Given the description of an element on the screen output the (x, y) to click on. 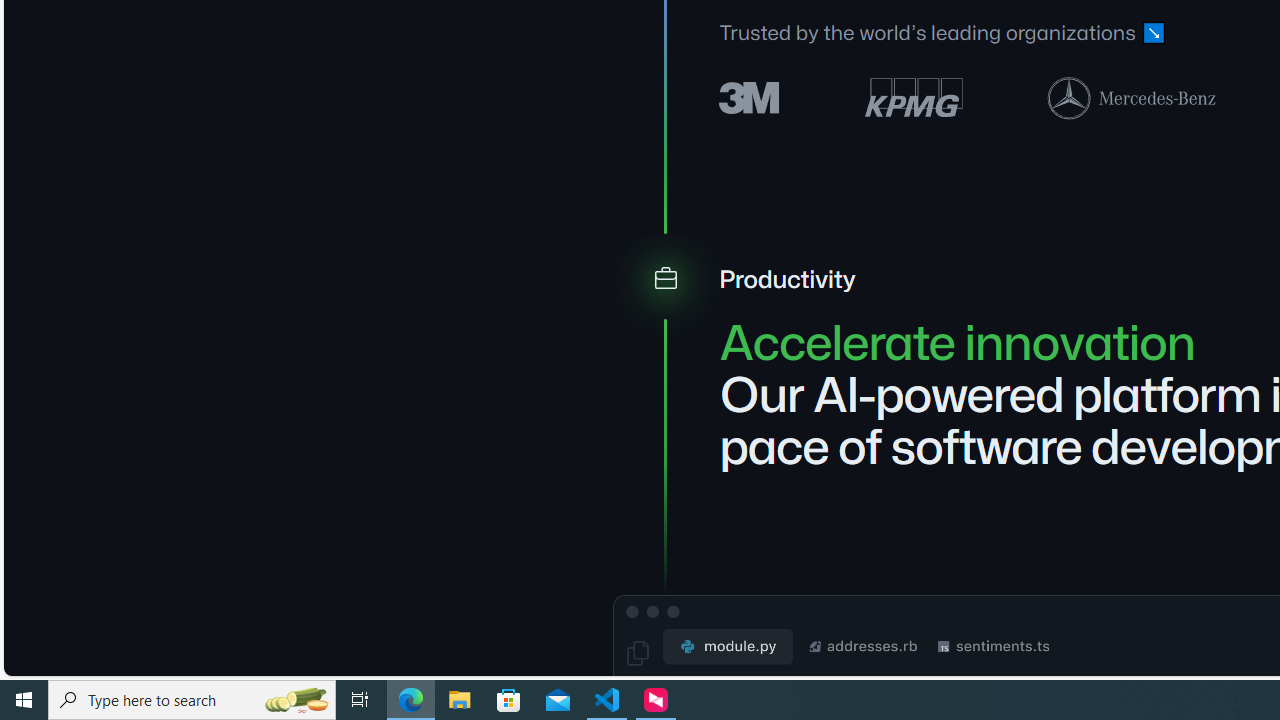
Mercedes-Benz logo (1132, 97)
3M logo (749, 96)
KPMG logo (913, 97)
